Given the description of an element on the screen output the (x, y) to click on. 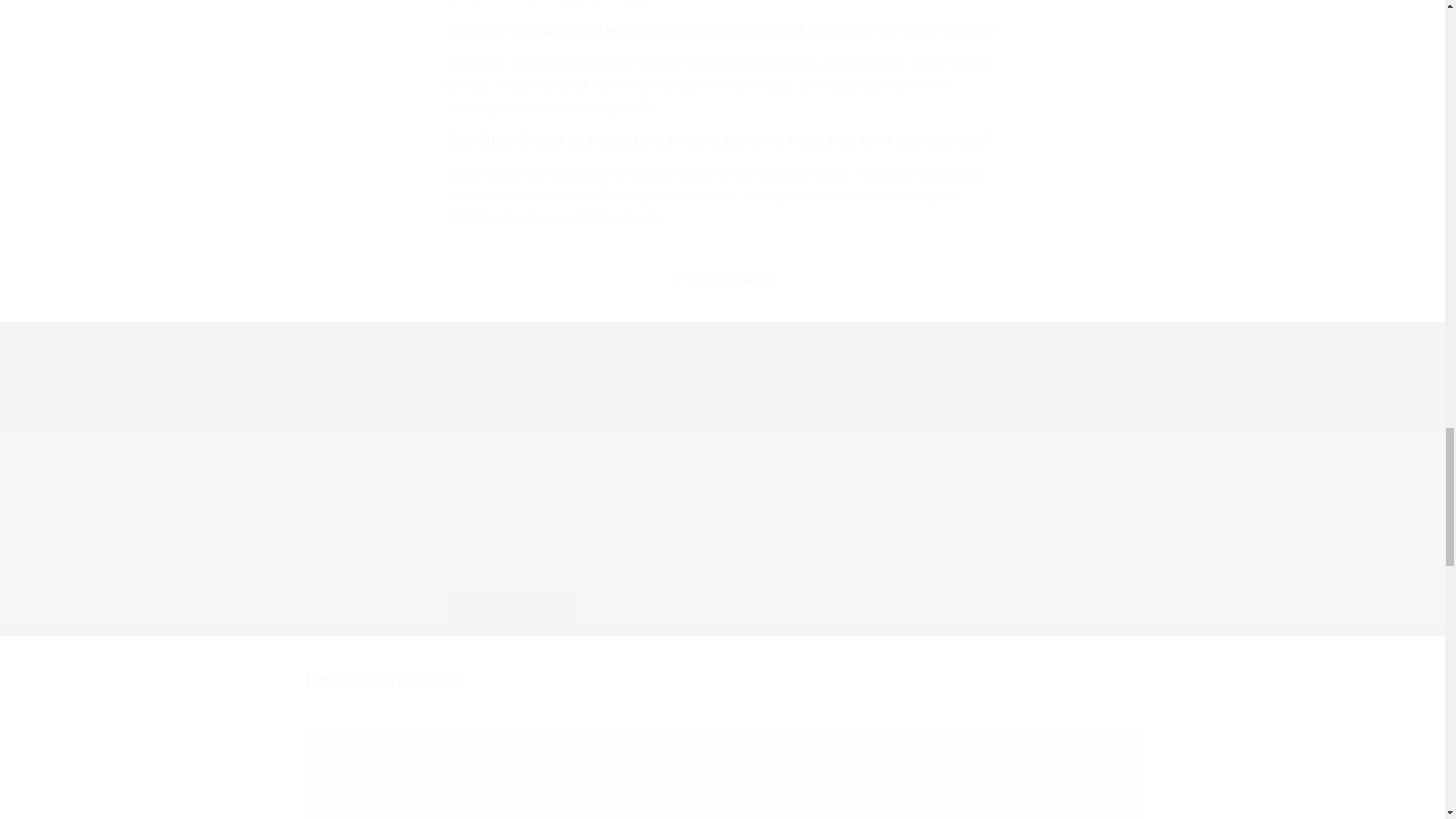
Post comment (510, 606)
Post comment (510, 606)
Recommendations (721, 678)
